Given the description of an element on the screen output the (x, y) to click on. 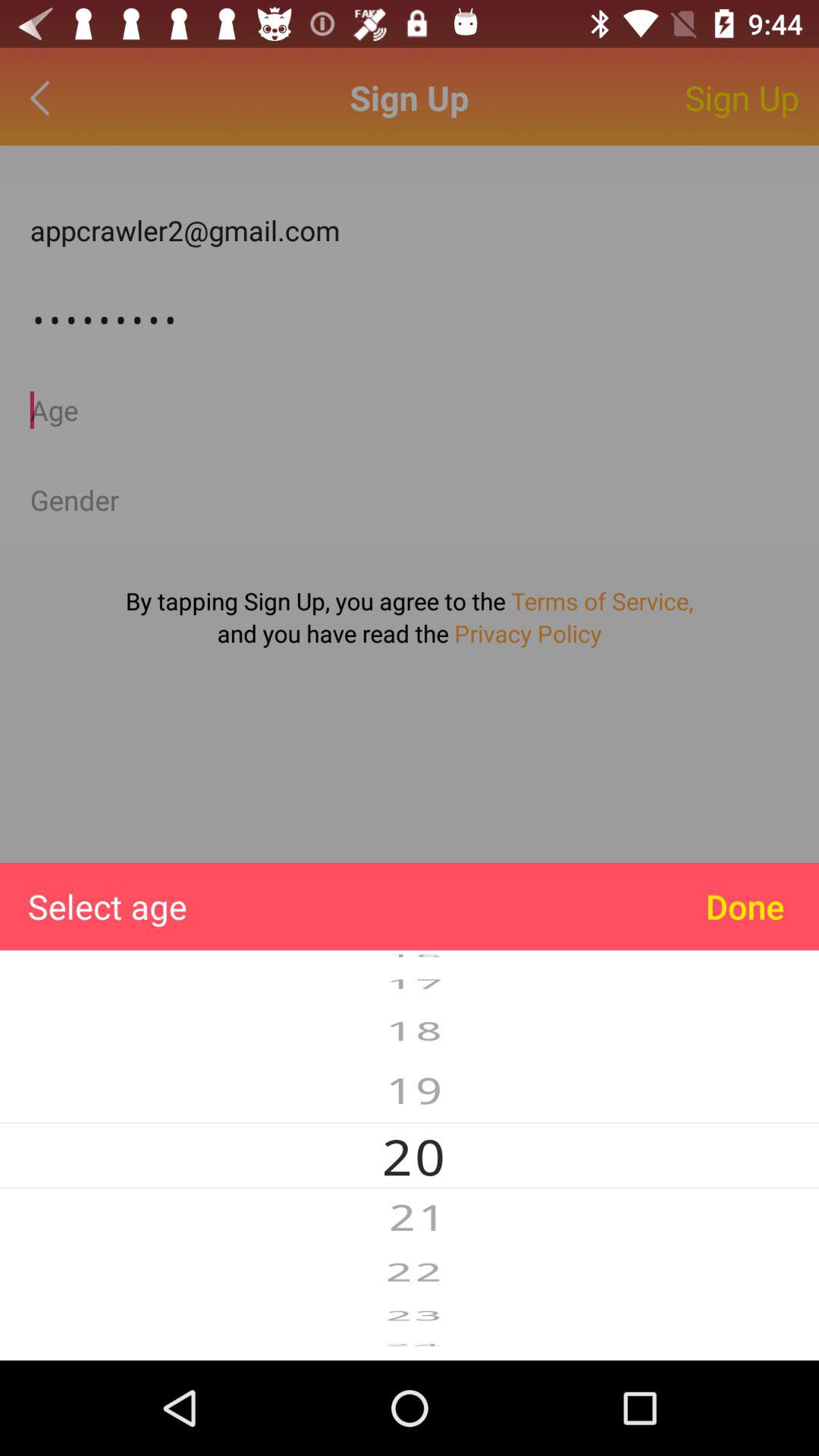
go back (43, 97)
